Given the description of an element on the screen output the (x, y) to click on. 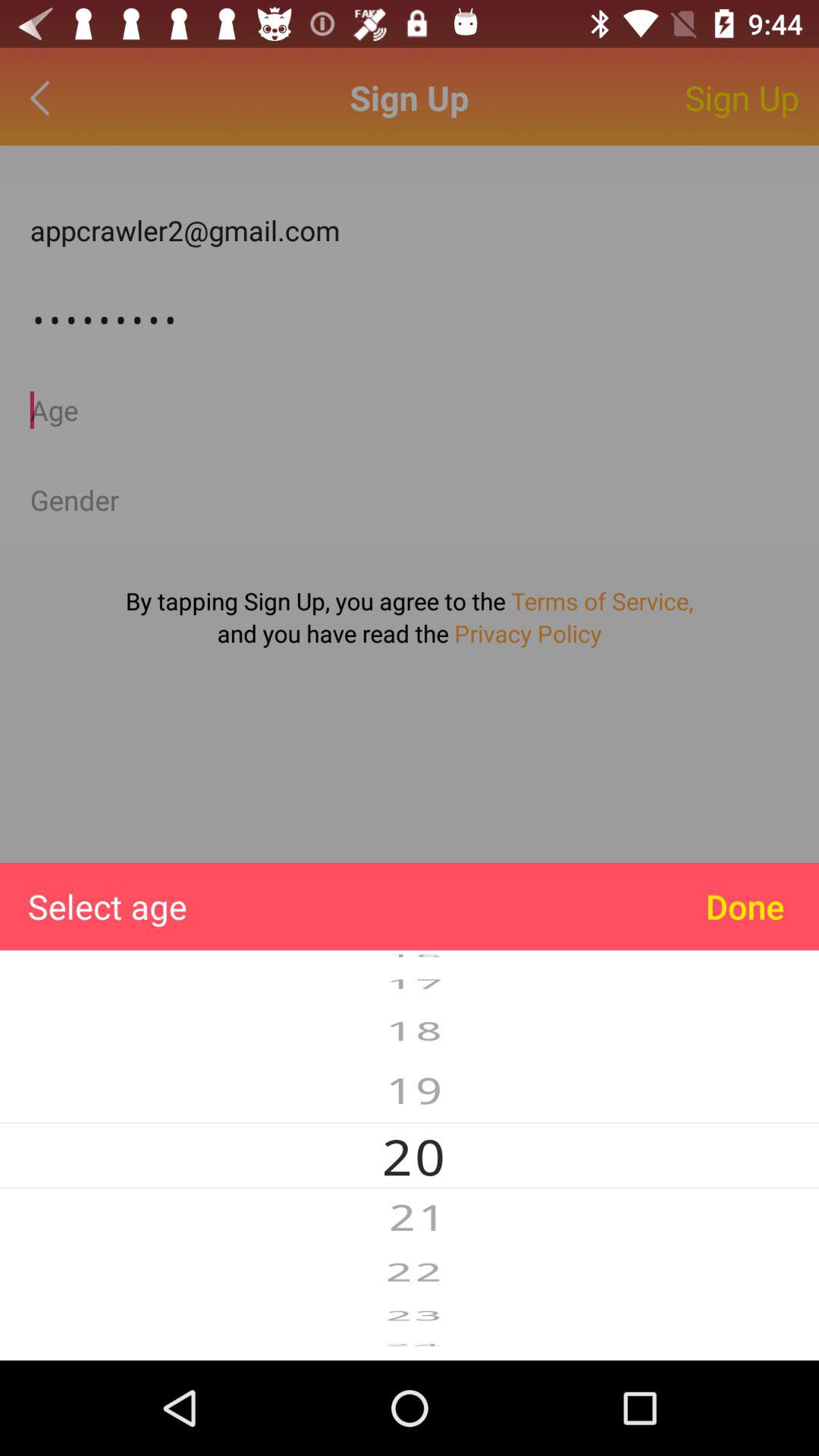
go back (43, 97)
